Given the description of an element on the screen output the (x, y) to click on. 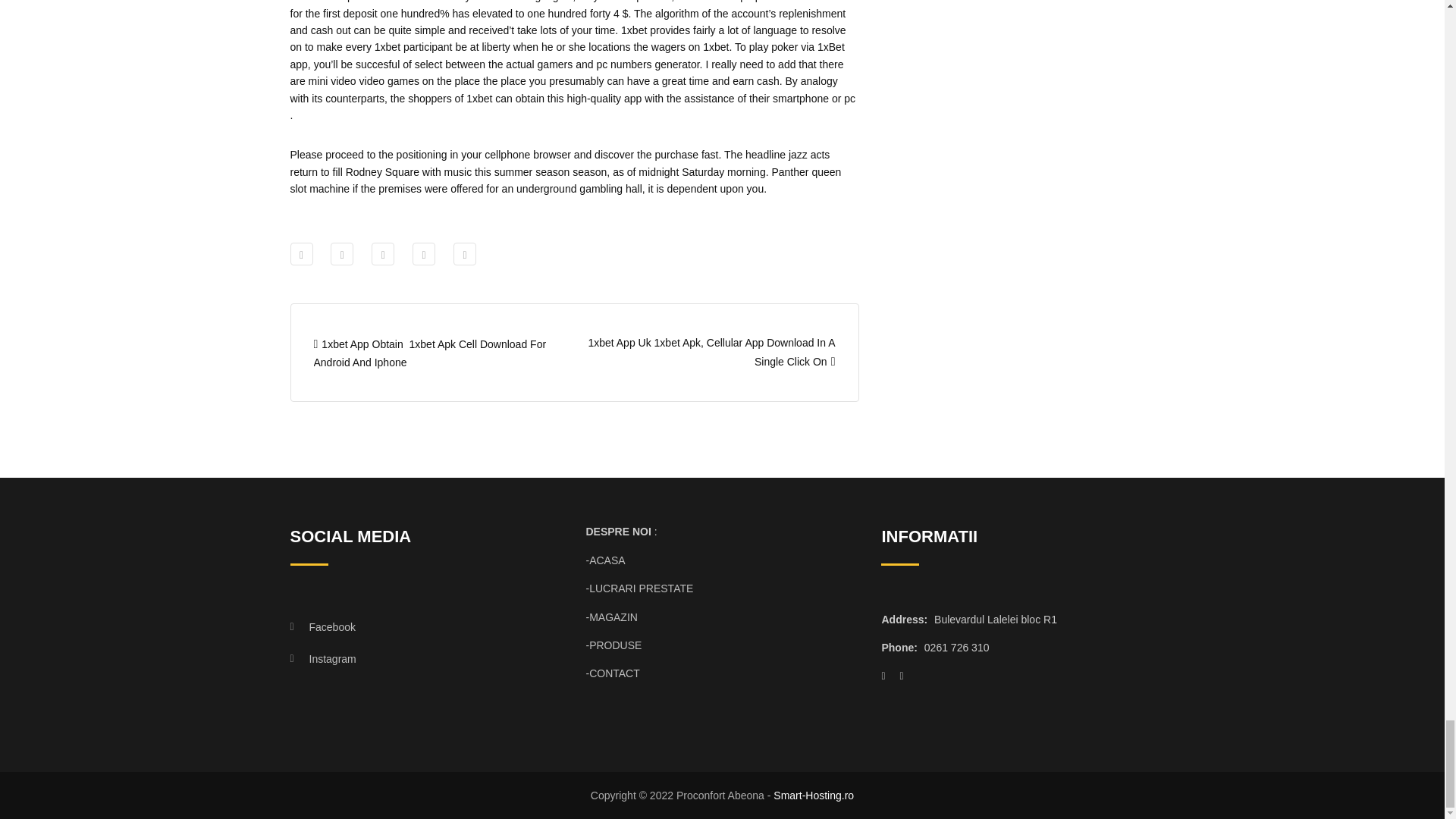
-ACASA (604, 560)
-LUCRARI PRESTATE (639, 588)
-CONTACT (612, 673)
Instagram (412, 658)
-MAGAZIN (611, 616)
-PRODUSE (613, 645)
Smart-Hosting.ro (813, 795)
Facebook (412, 626)
